Given the description of an element on the screen output the (x, y) to click on. 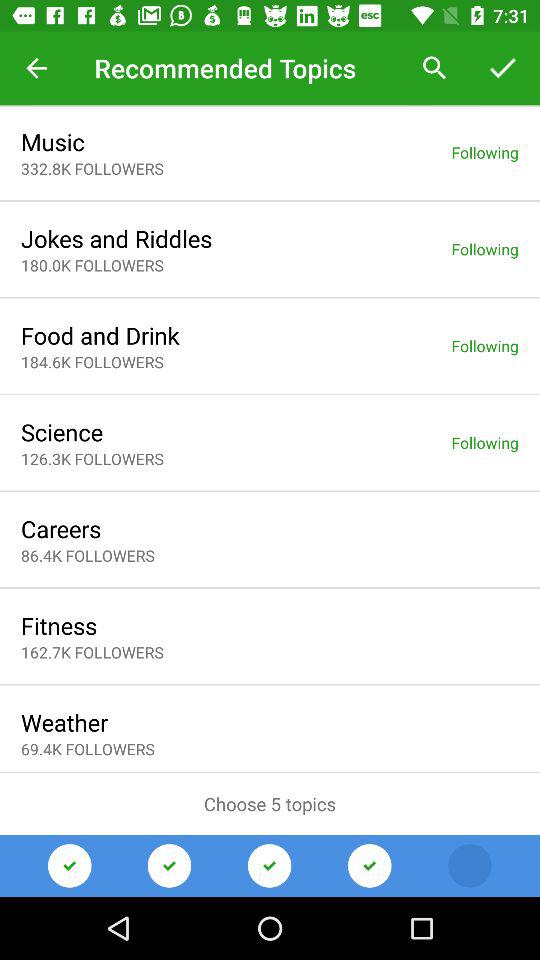
turn on app next to recommended topics app (36, 68)
